Given the description of an element on the screen output the (x, y) to click on. 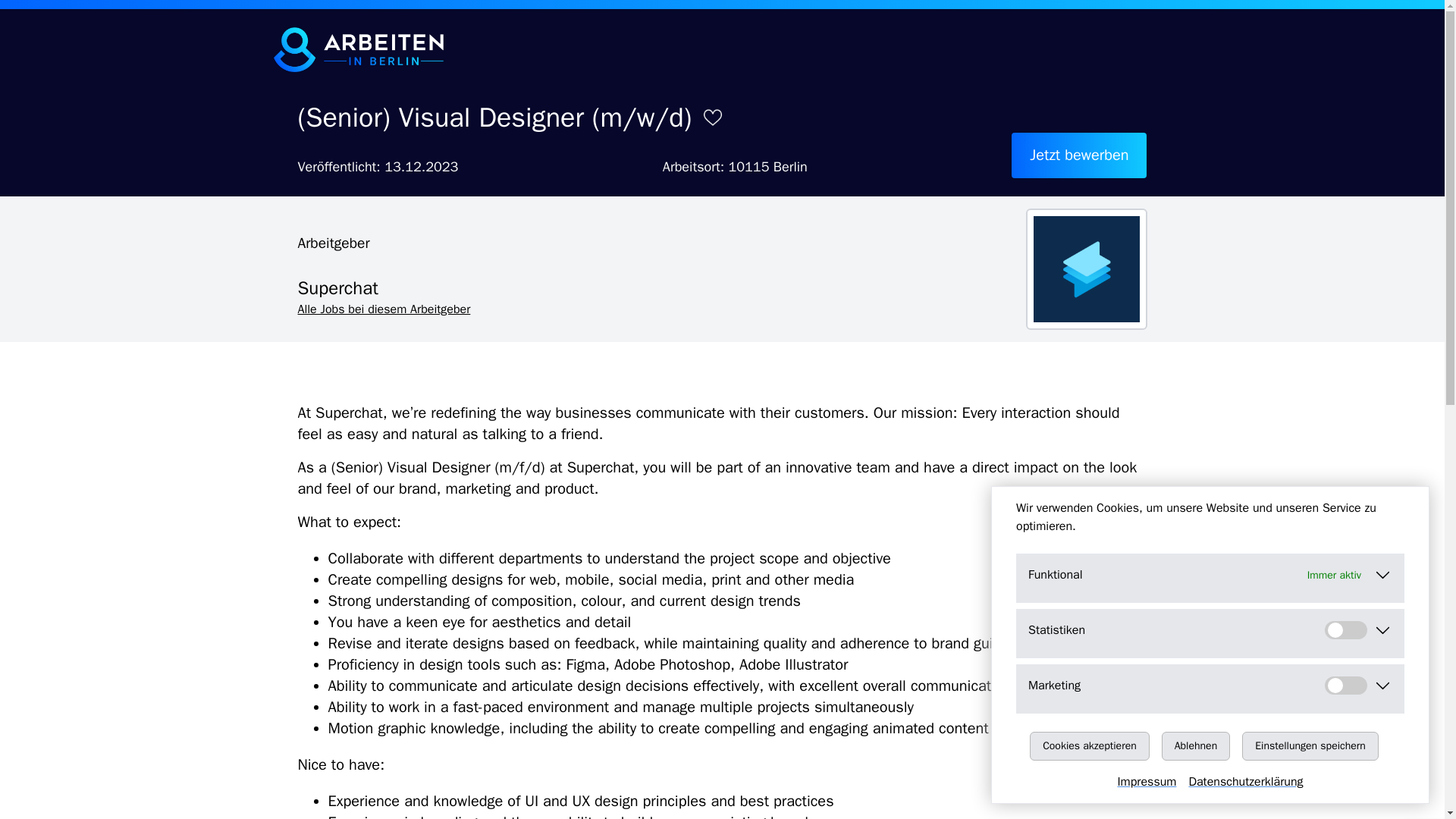
Cookies akzeptieren (1089, 746)
Jetzt bewerben (1079, 155)
Startseite arbeiten-in-berlin.net (357, 49)
Einstellungen speichern (1309, 746)
Alle Jobs bei diesem Arbeitgeber (383, 309)
Impressum (1152, 782)
Ablehnen (1195, 746)
